Given the description of an element on the screen output the (x, y) to click on. 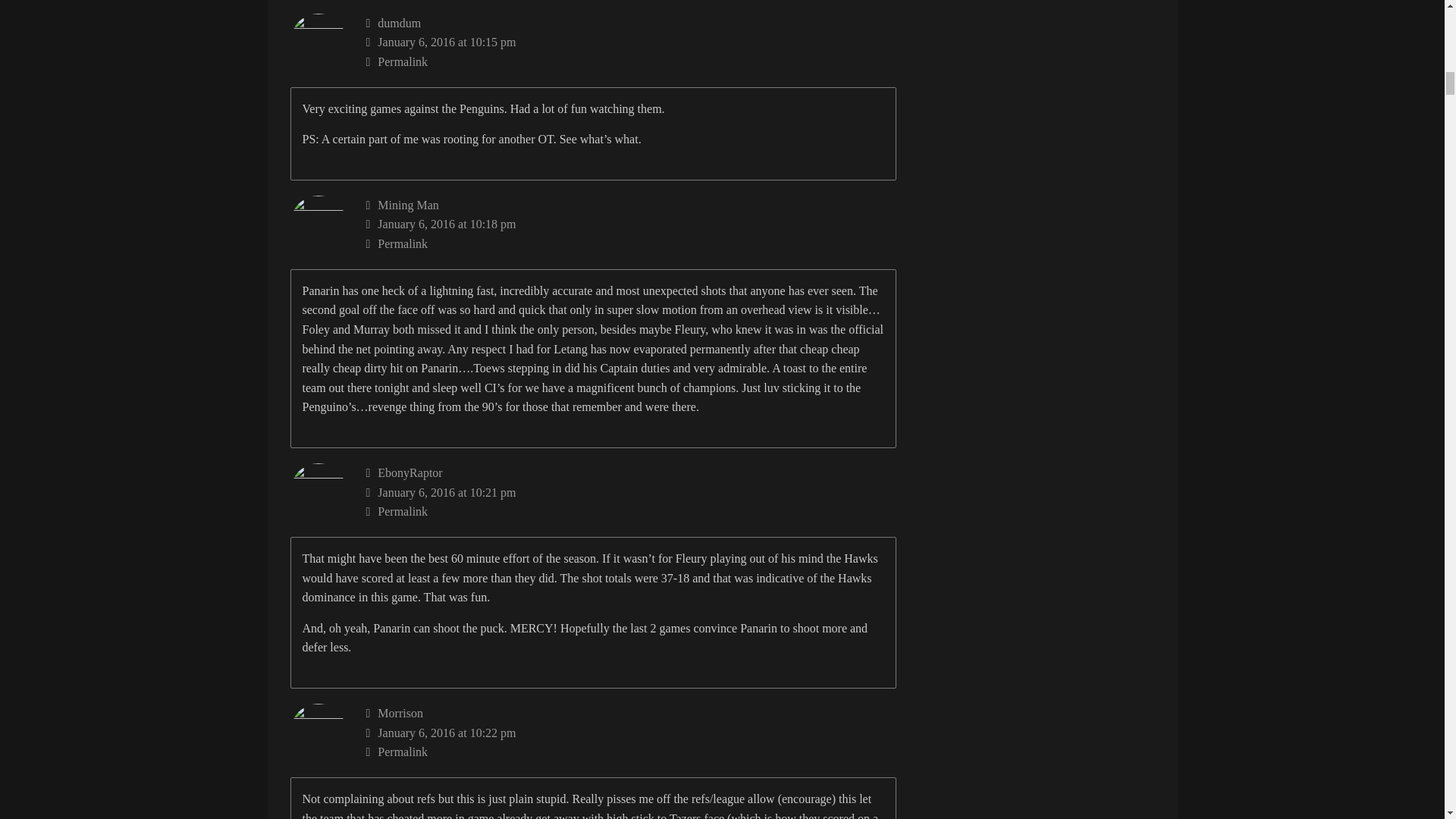
Permalink (630, 62)
Permalink (630, 243)
Permalink (630, 511)
Permalink (630, 752)
